Given the description of an element on the screen output the (x, y) to click on. 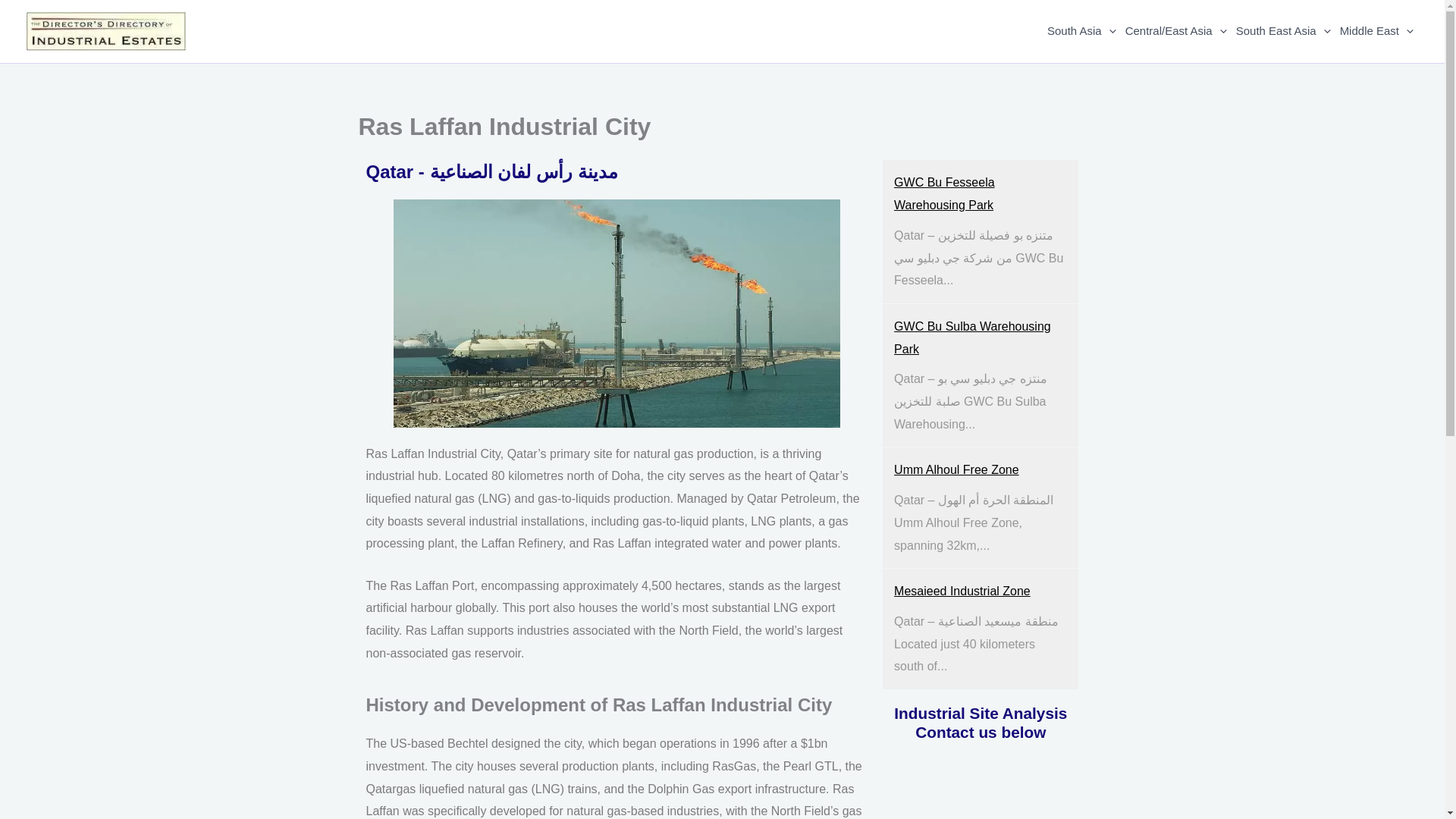
Umm Alhoul Free Zone (956, 469)
South Asia (1081, 31)
South East Asia (1283, 31)
Middle East (1376, 31)
GWC Bu Fesseela Warehousing Park (943, 193)
GWC Bu Sulba Warehousing Park (972, 337)
Mesaieed Industrial Zone (961, 590)
